Given the description of an element on the screen output the (x, y) to click on. 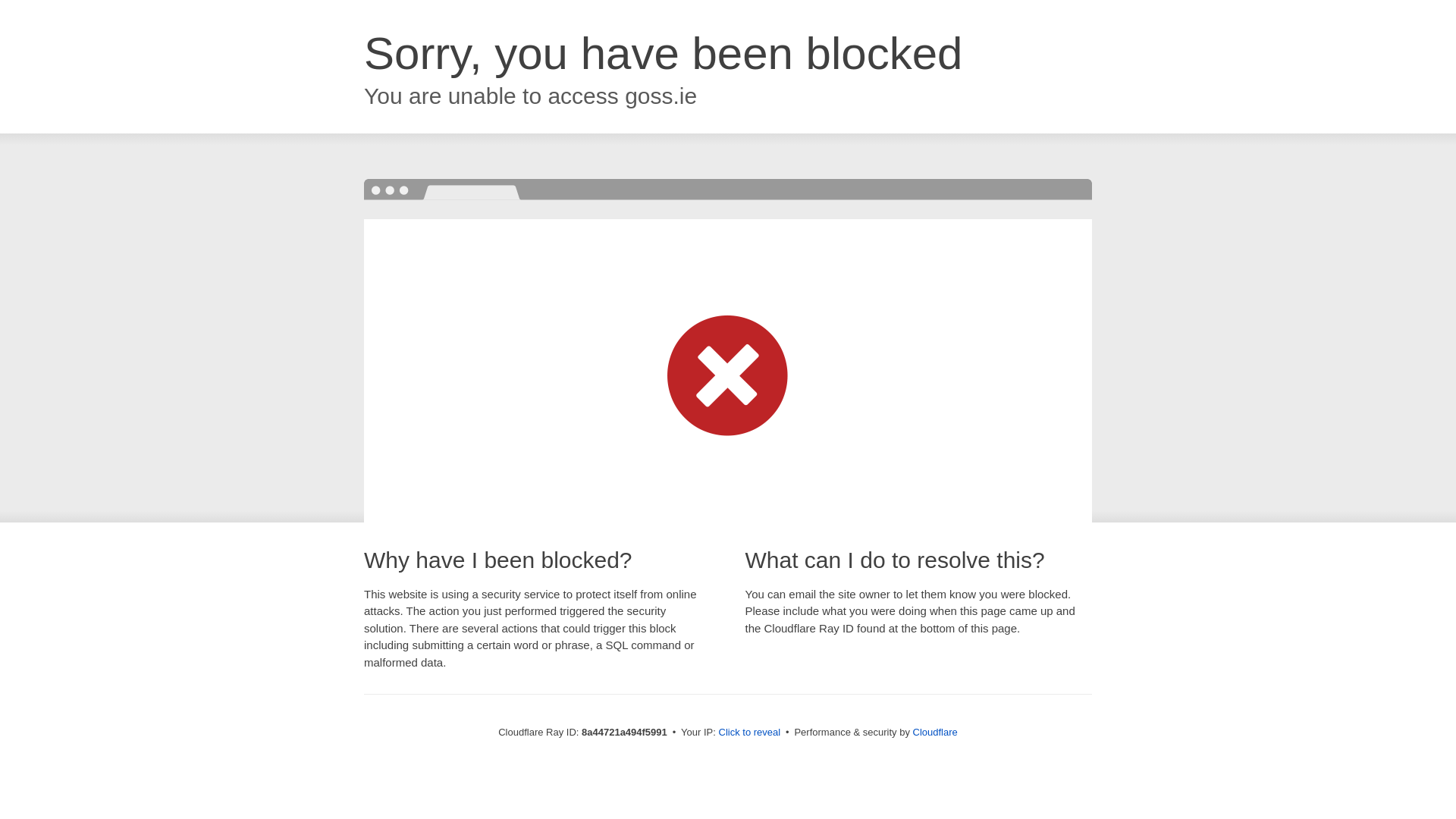
Click to reveal (749, 732)
Cloudflare (935, 731)
